Given the description of an element on the screen output the (x, y) to click on. 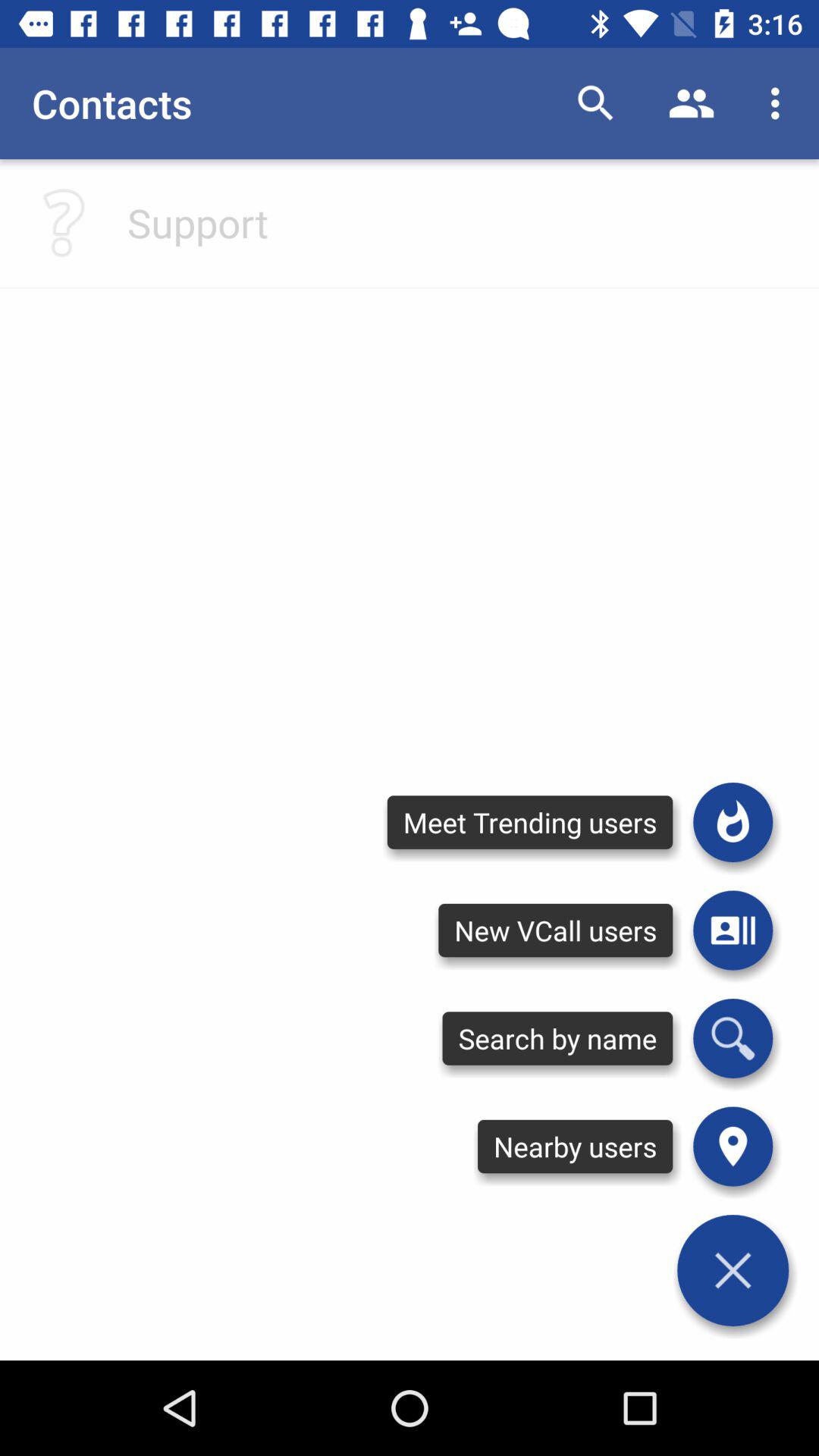
select the icon before new vcall users on the page (732, 930)
